Given the description of an element on the screen output the (x, y) to click on. 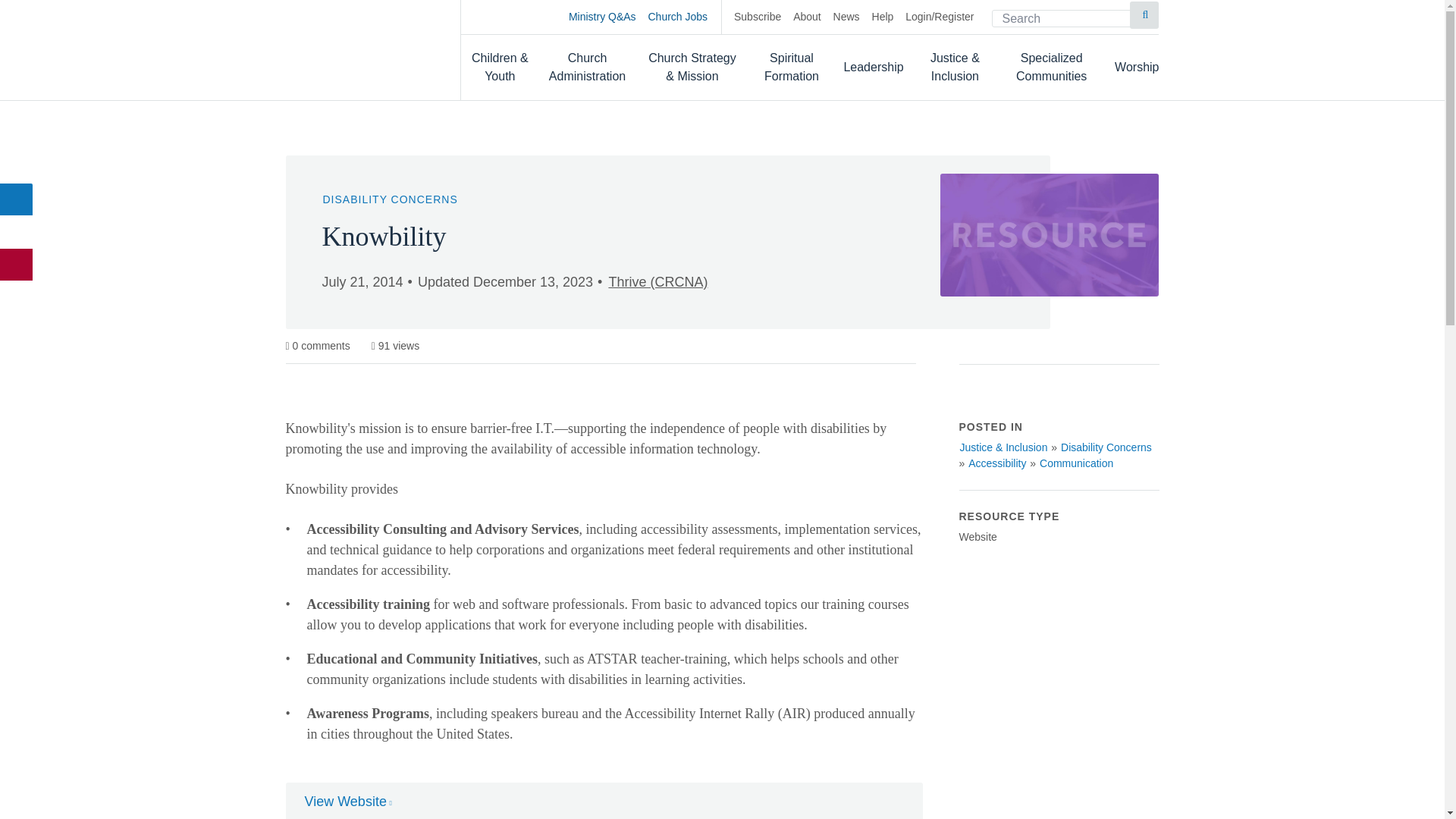
DISABILITY CONCERNS (389, 199)
Share to Email (16, 264)
Disability Concerns (1106, 447)
Share to X (16, 231)
Share to Facebook (16, 199)
Church Administration (587, 67)
Submit (1143, 14)
View Website (346, 801)
View user profile. (657, 281)
